Given the description of an element on the screen output the (x, y) to click on. 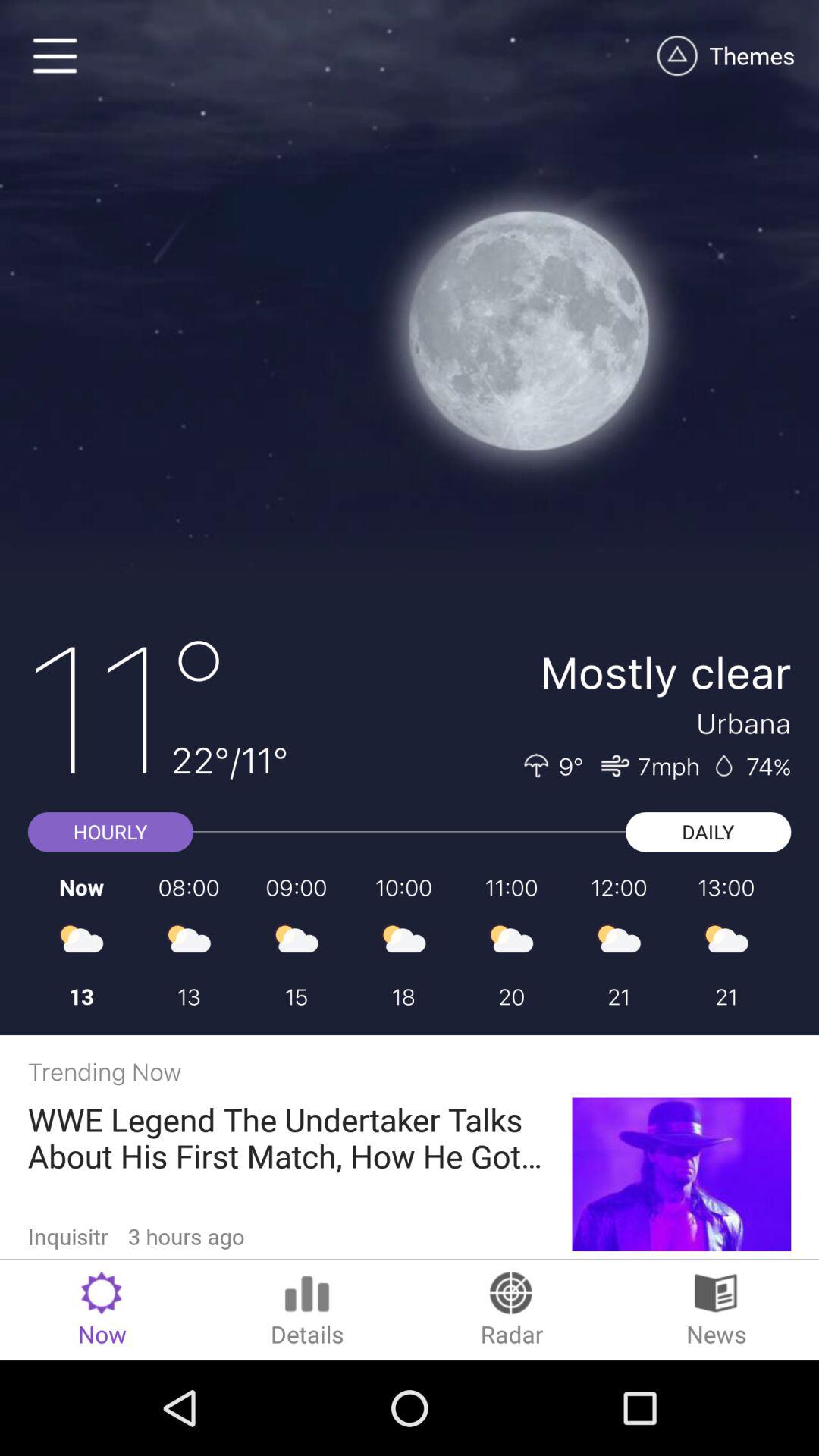
open the menu (55, 55)
